Given the description of an element on the screen output the (x, y) to click on. 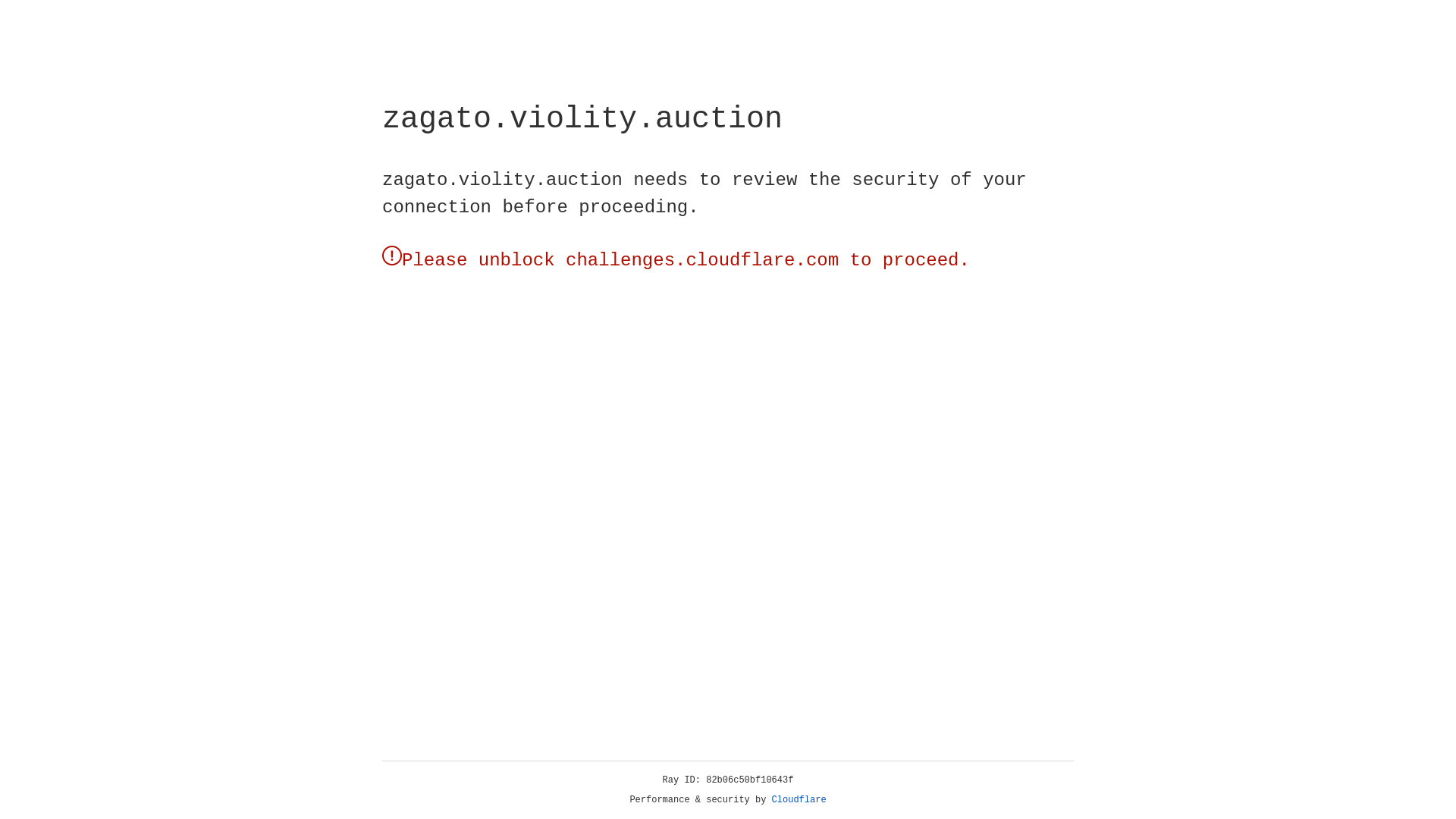
Cloudflare Element type: text (165, 107)
